Given the description of an element on the screen output the (x, y) to click on. 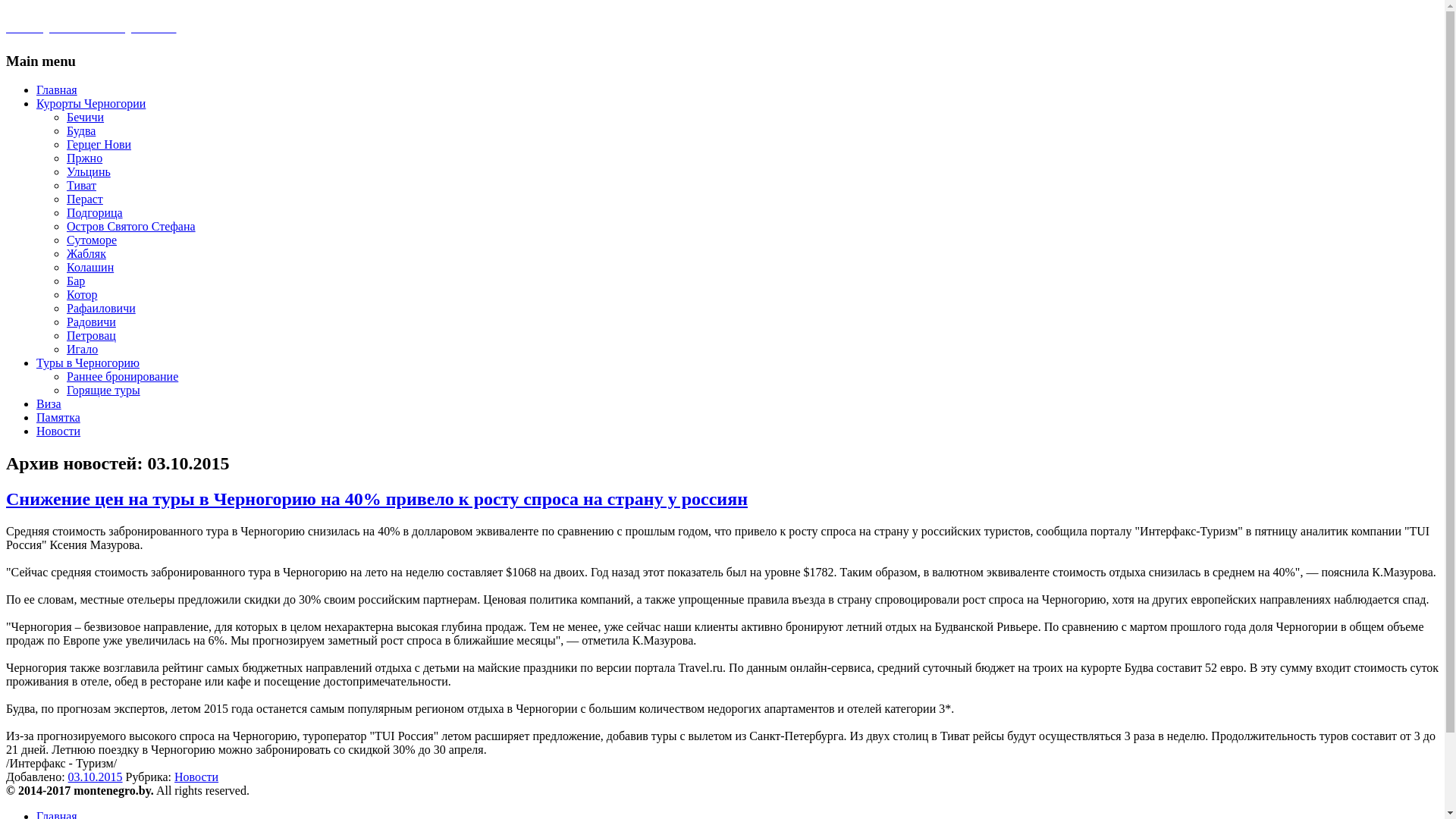
03.10.2015 Element type: text (95, 776)
